Given the description of an element on the screen output the (x, y) to click on. 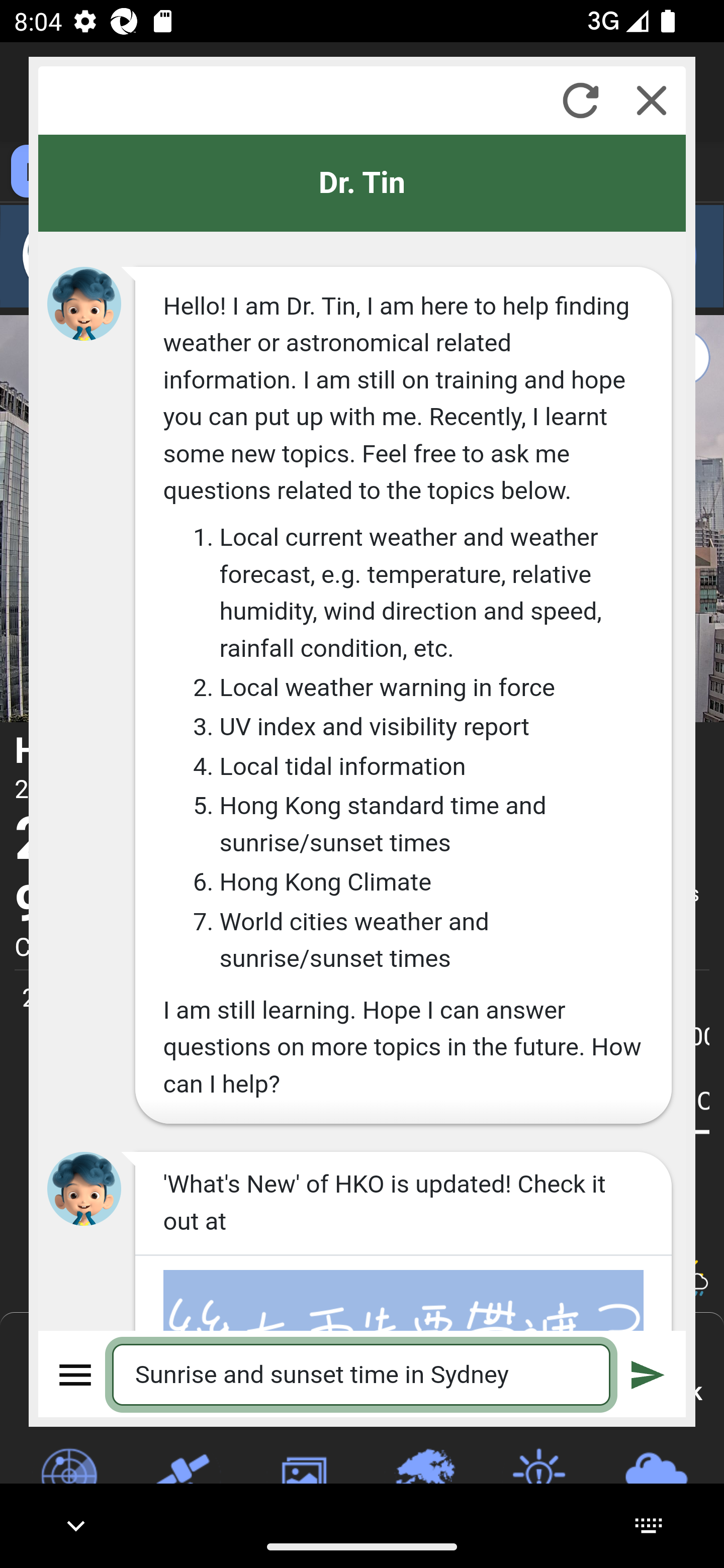
Refresh (580, 100)
Close (651, 100)
Menu (75, 1374)
Submit (648, 1374)
Sunrise and sunset time in Sydney (361, 1374)
